Given the description of an element on the screen output the (x, y) to click on. 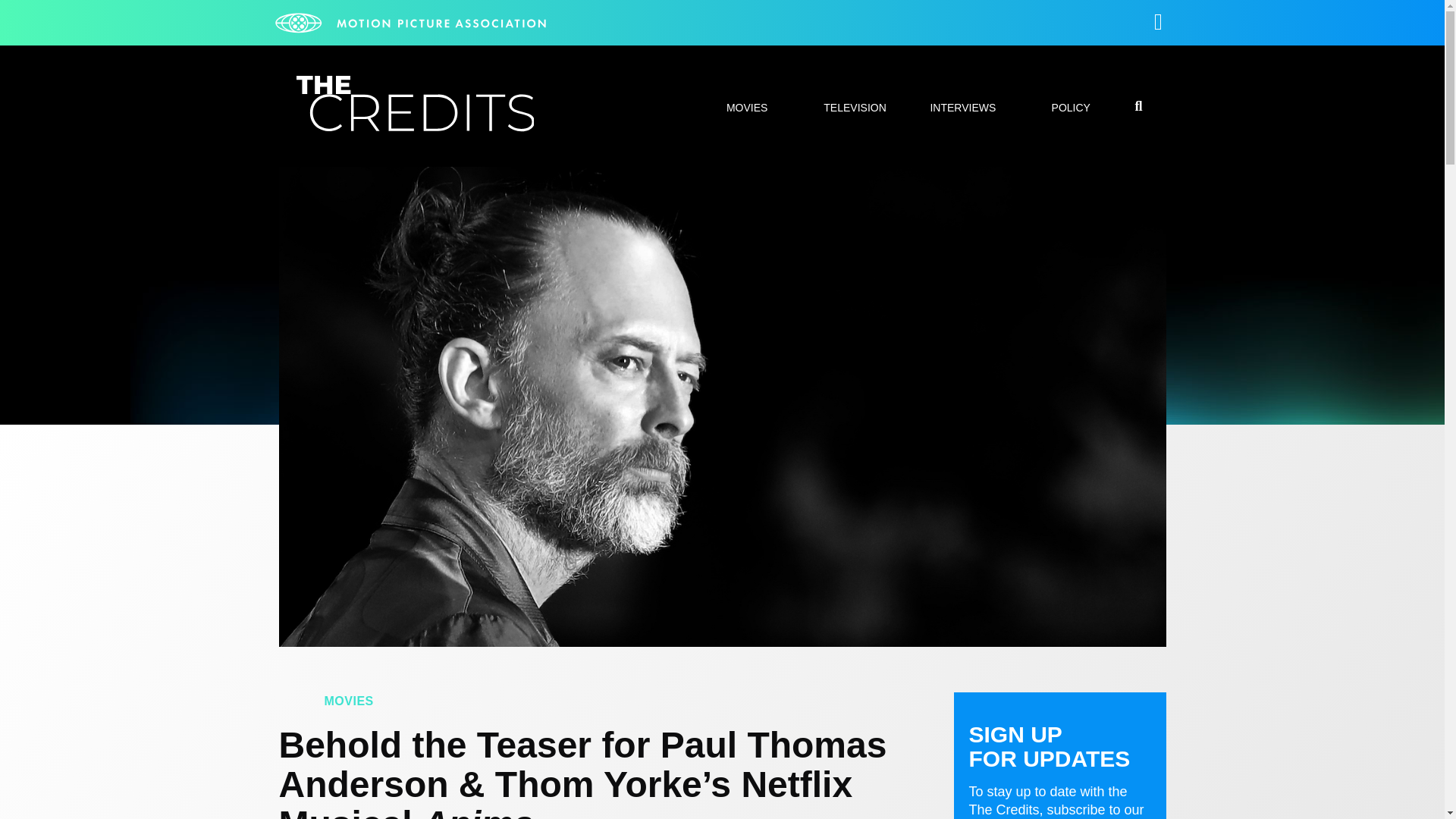
Search (1077, 408)
